Given the description of an element on the screen output the (x, y) to click on. 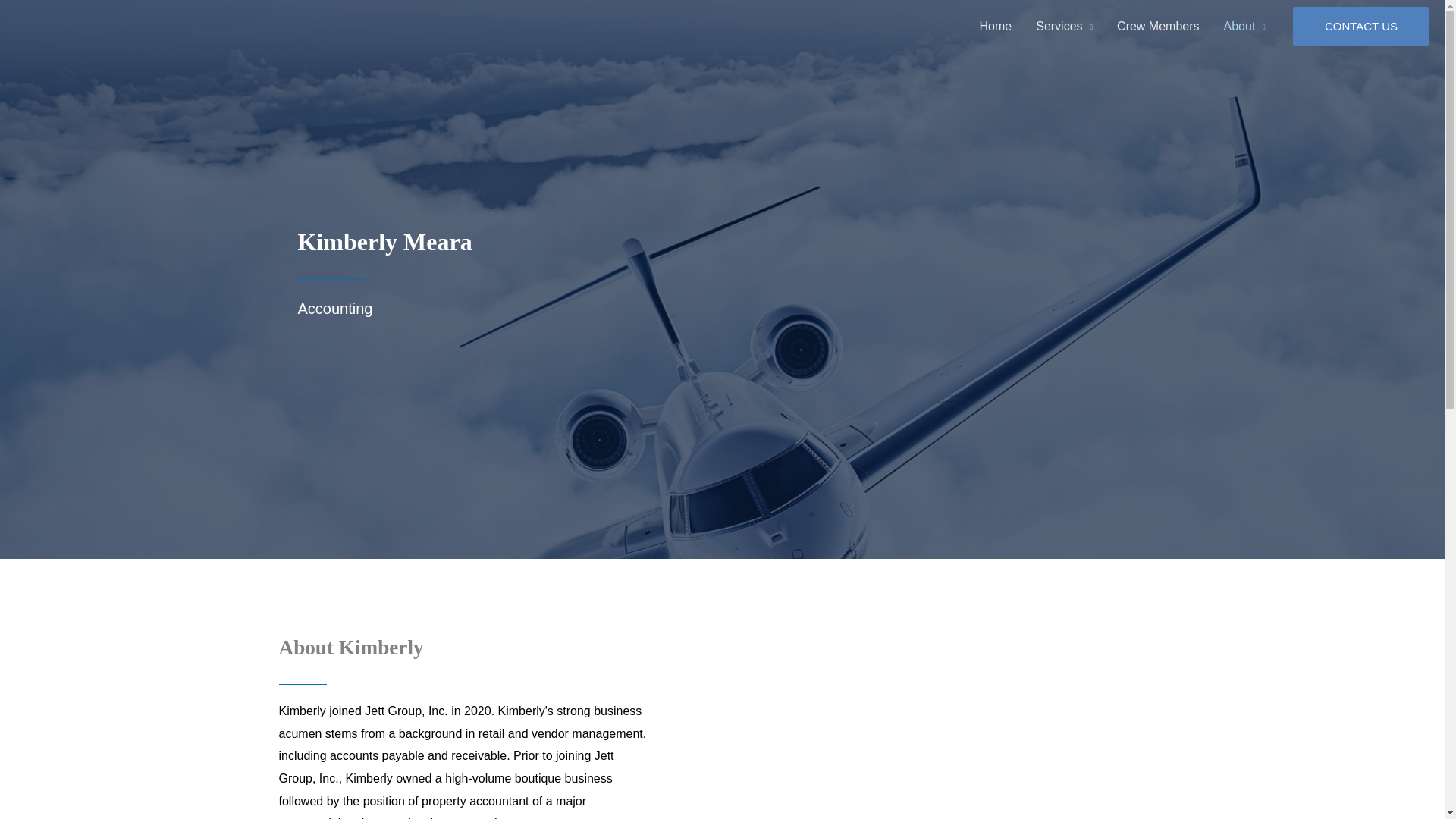
CONTACT US (1360, 25)
Crew Members (1158, 26)
Home (996, 26)
Services (1064, 26)
About (1244, 26)
